Given the description of an element on the screen output the (x, y) to click on. 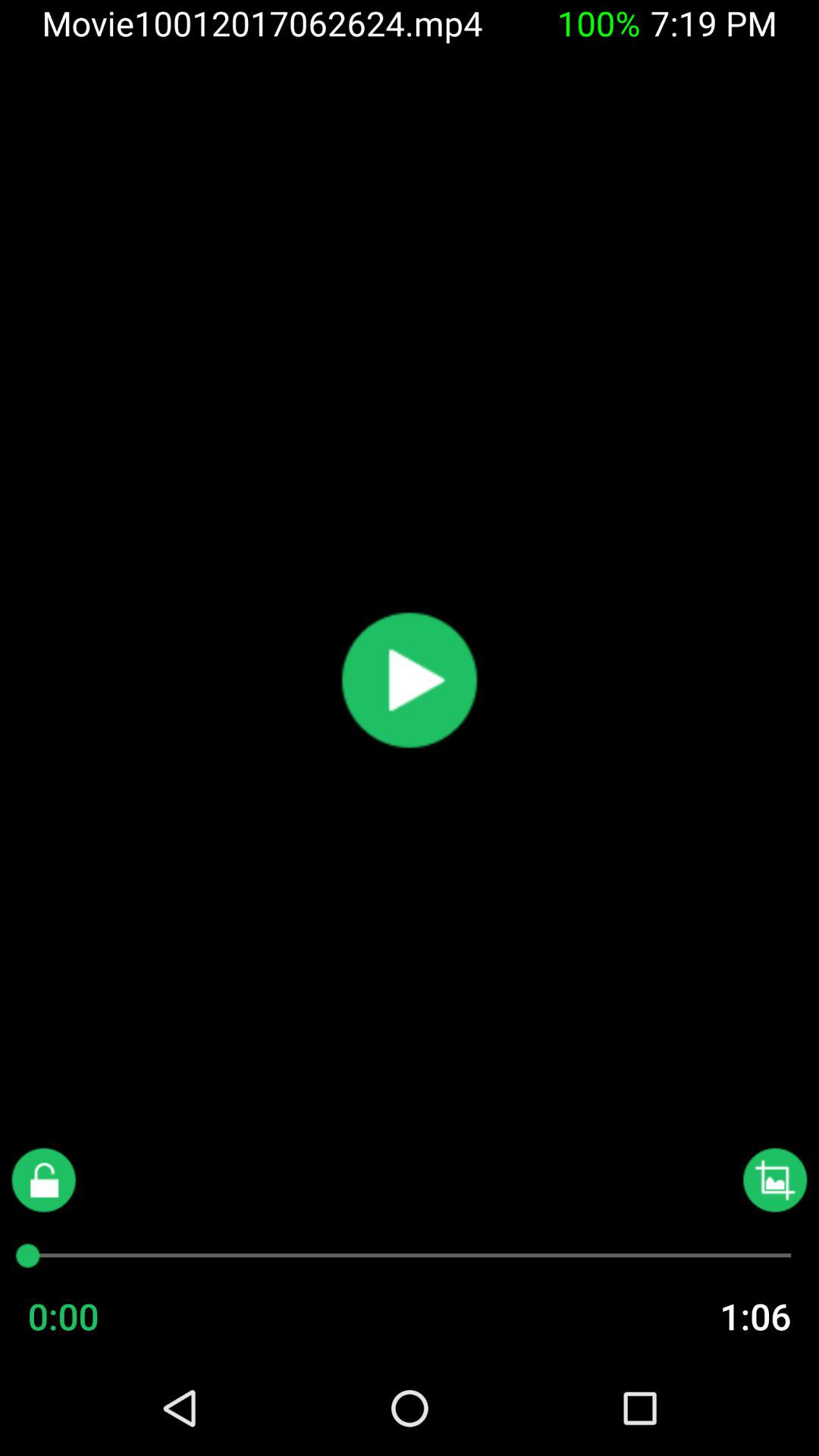
tap the item next to the 0:00 (725, 1315)
